Given the description of an element on the screen output the (x, y) to click on. 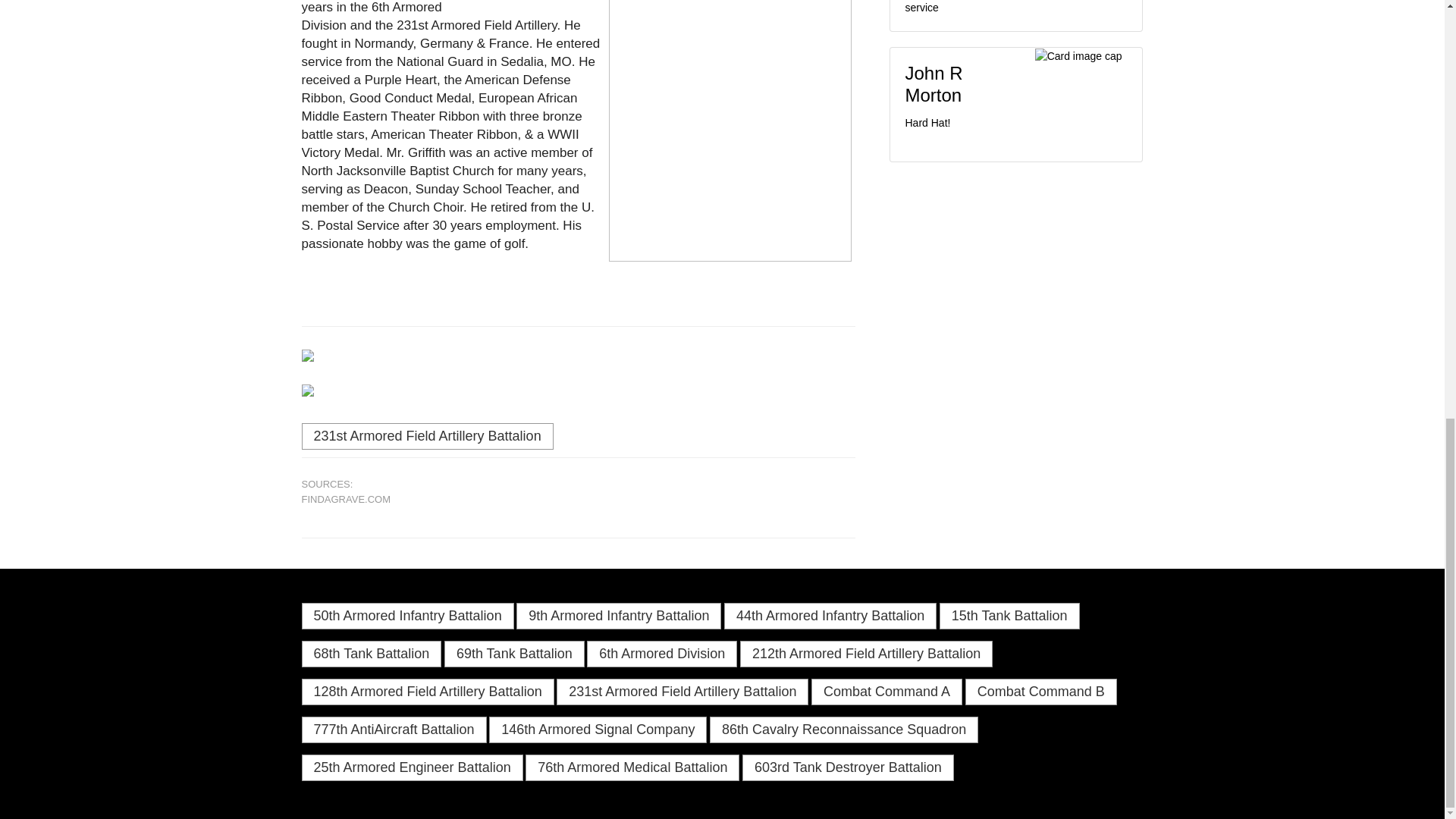
Combat Command B (1040, 691)
76th Armored Medical Battalion (632, 767)
777th AntiAircraft Battalion (393, 729)
86th Cavalry Reconnaissance Squadron (844, 729)
9th Armored Infantry Battalion (618, 615)
50th Armored Infantry Battalion (407, 615)
15th Tank Battalion (1009, 615)
6th Armored Division (661, 653)
Combat Command A (886, 691)
